Given the description of an element on the screen output the (x, y) to click on. 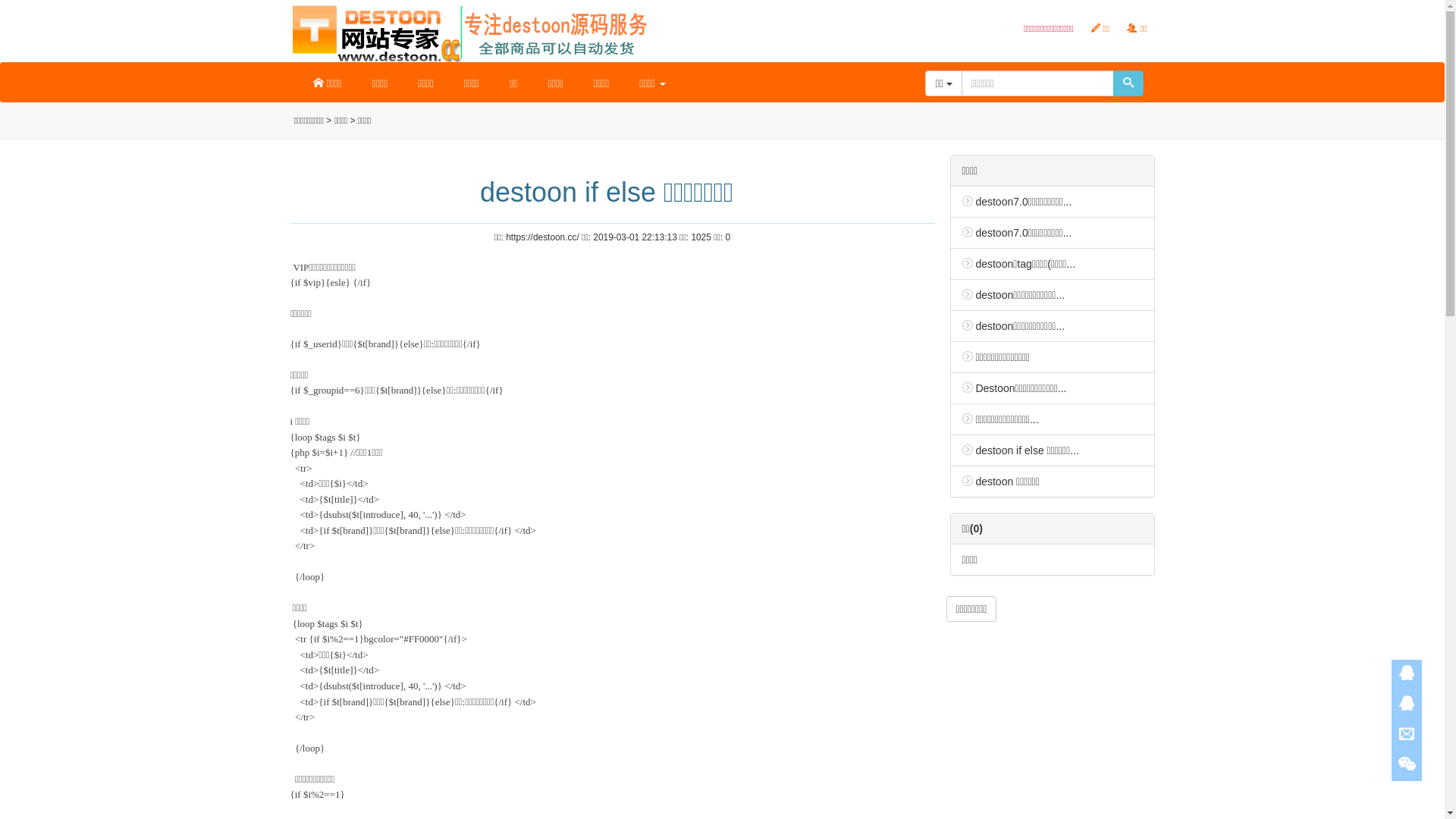
0 Element type: text (727, 237)
